Given the description of an element on the screen output the (x, y) to click on. 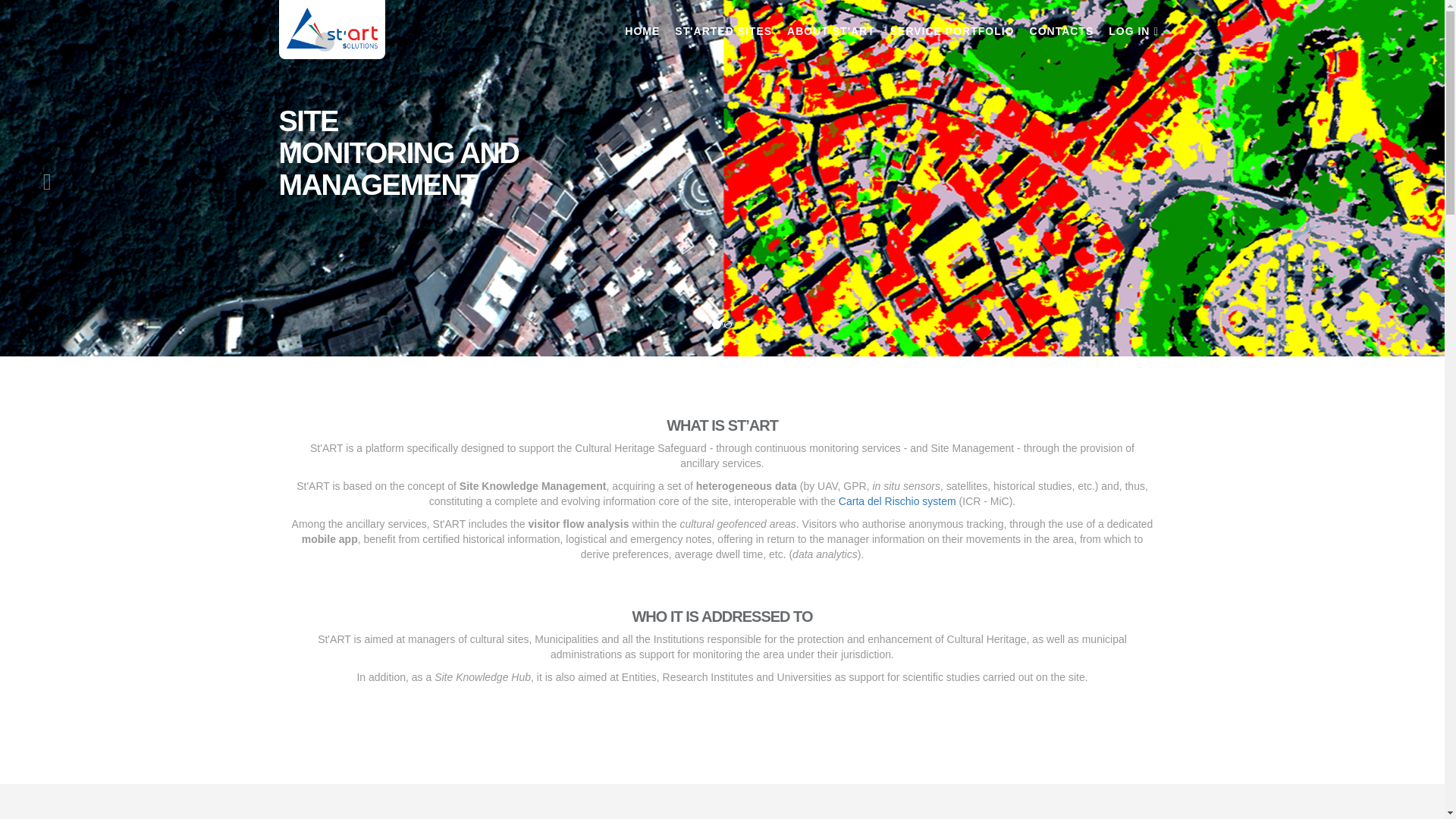
SERVICE PORTFOLIO (952, 24)
HOME (641, 24)
HOME (641, 24)
CONTACTS (1062, 24)
Carta del Rischio system (897, 500)
ABOUT ST'ART (830, 24)
SERVICE PORTFOLIO (952, 24)
ABOUT ST'ART (830, 24)
LOG IN (1133, 24)
ST'ARTED SITES (722, 24)
